Given the description of an element on the screen output the (x, y) to click on. 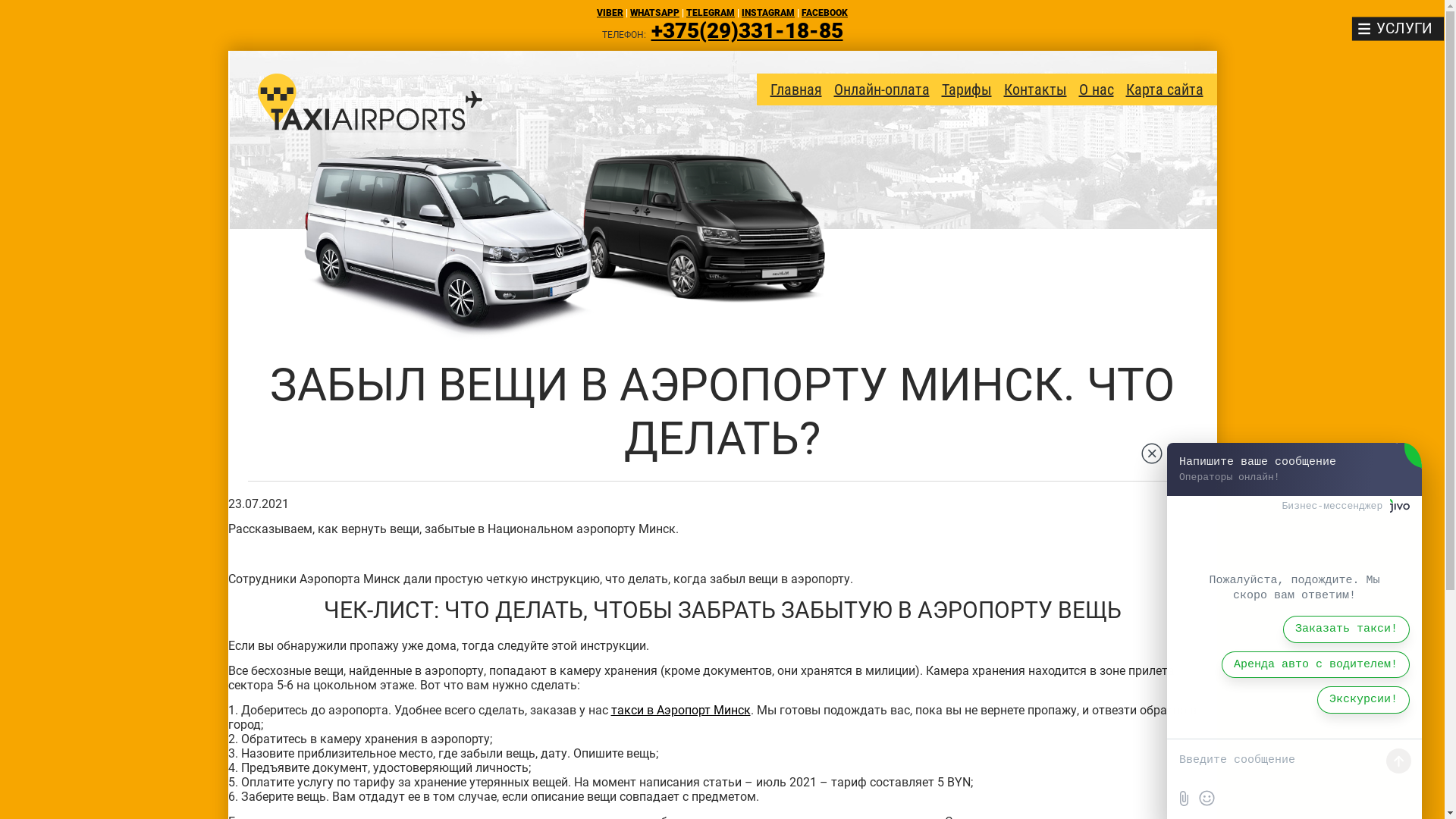
TELEGRAM Element type: text (710, 12)
Taxiairports.by Element type: hover (369, 101)
WHATSAPP Element type: text (654, 12)
INSTAGRAM Element type: text (767, 12)
FACEBOOK Element type: text (824, 12)
+375(29)331-18-85 Element type: text (746, 30)
VIBER Element type: text (609, 12)
